Given the description of an element on the screen output the (x, y) to click on. 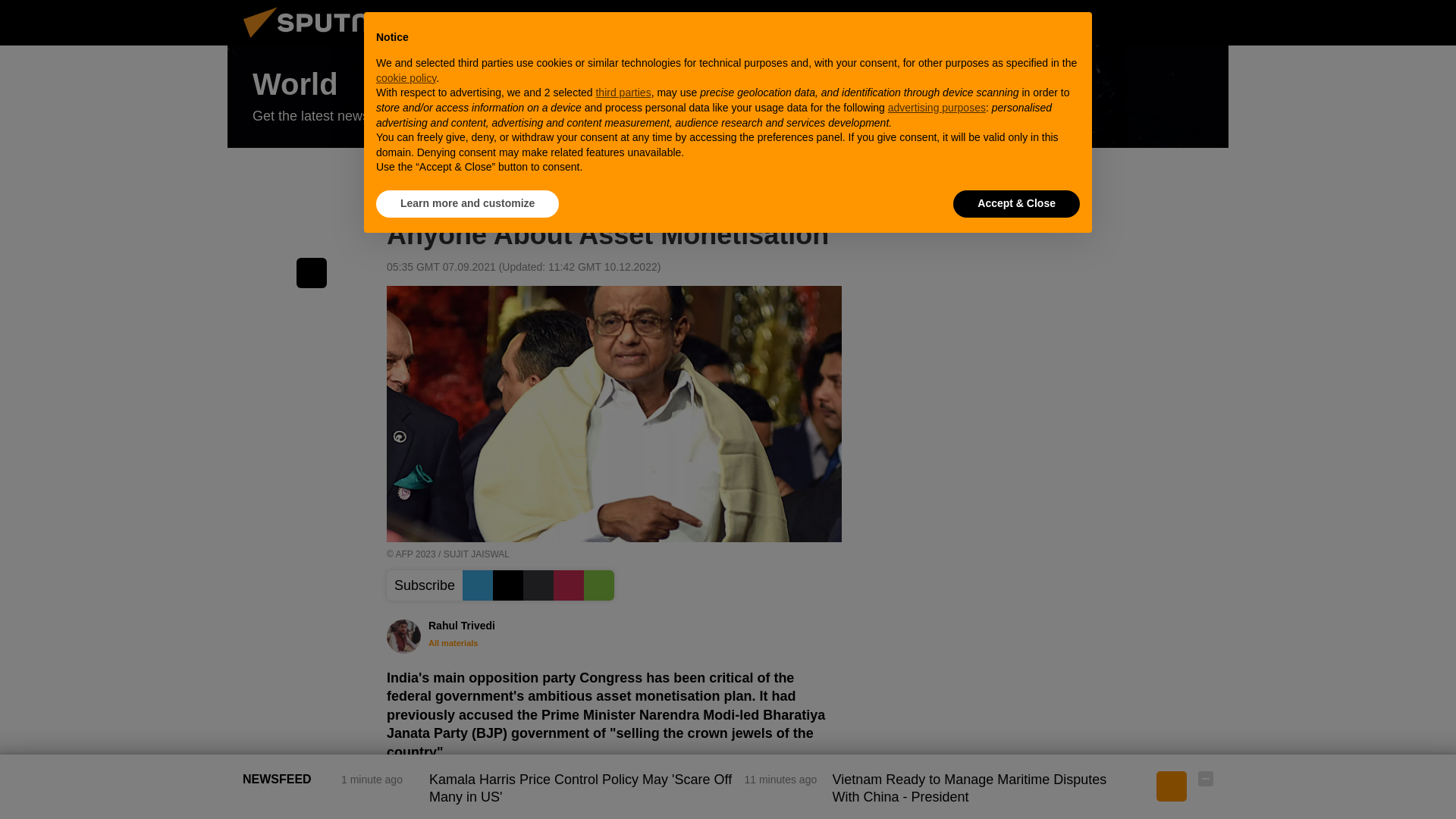
Authorization (1129, 22)
World (727, 96)
Sputnik International (325, 41)
Chats (1206, 22)
